Given the description of an element on the screen output the (x, y) to click on. 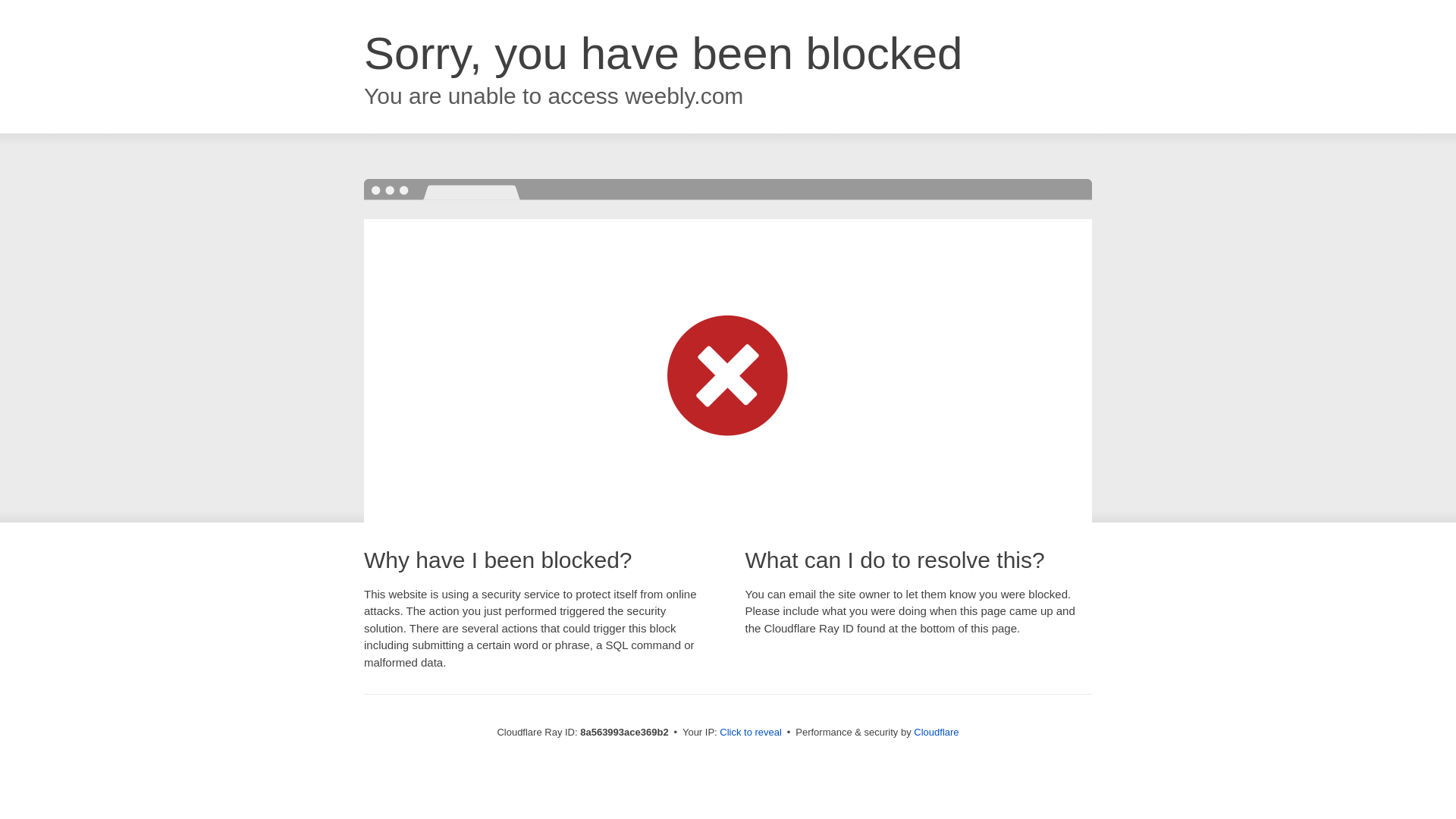
Click to reveal (750, 732)
Cloudflare (936, 731)
